Given the description of an element on the screen output the (x, y) to click on. 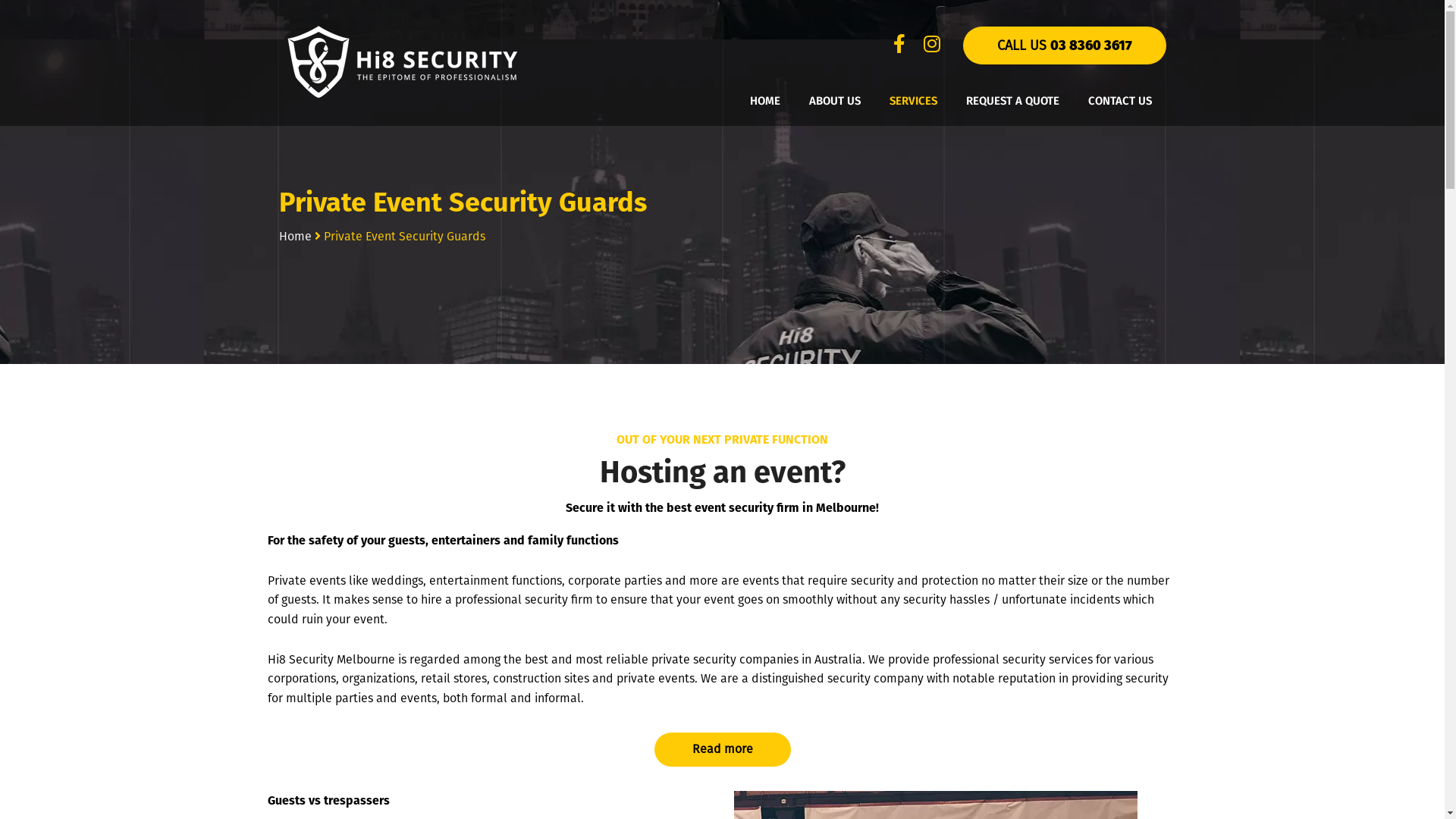
Facebook Element type: hover (903, 45)
SERVICES Element type: text (912, 100)
CONTACT US Element type: text (1119, 100)
REQUEST A QUOTE Element type: text (1012, 100)
Home Element type: text (295, 236)
Instagram Element type: hover (927, 45)
HOME Element type: text (764, 100)
CALL US 03 8360 3617 Element type: text (1064, 45)
ABOUT US Element type: text (833, 100)
